Given the description of an element on the screen output the (x, y) to click on. 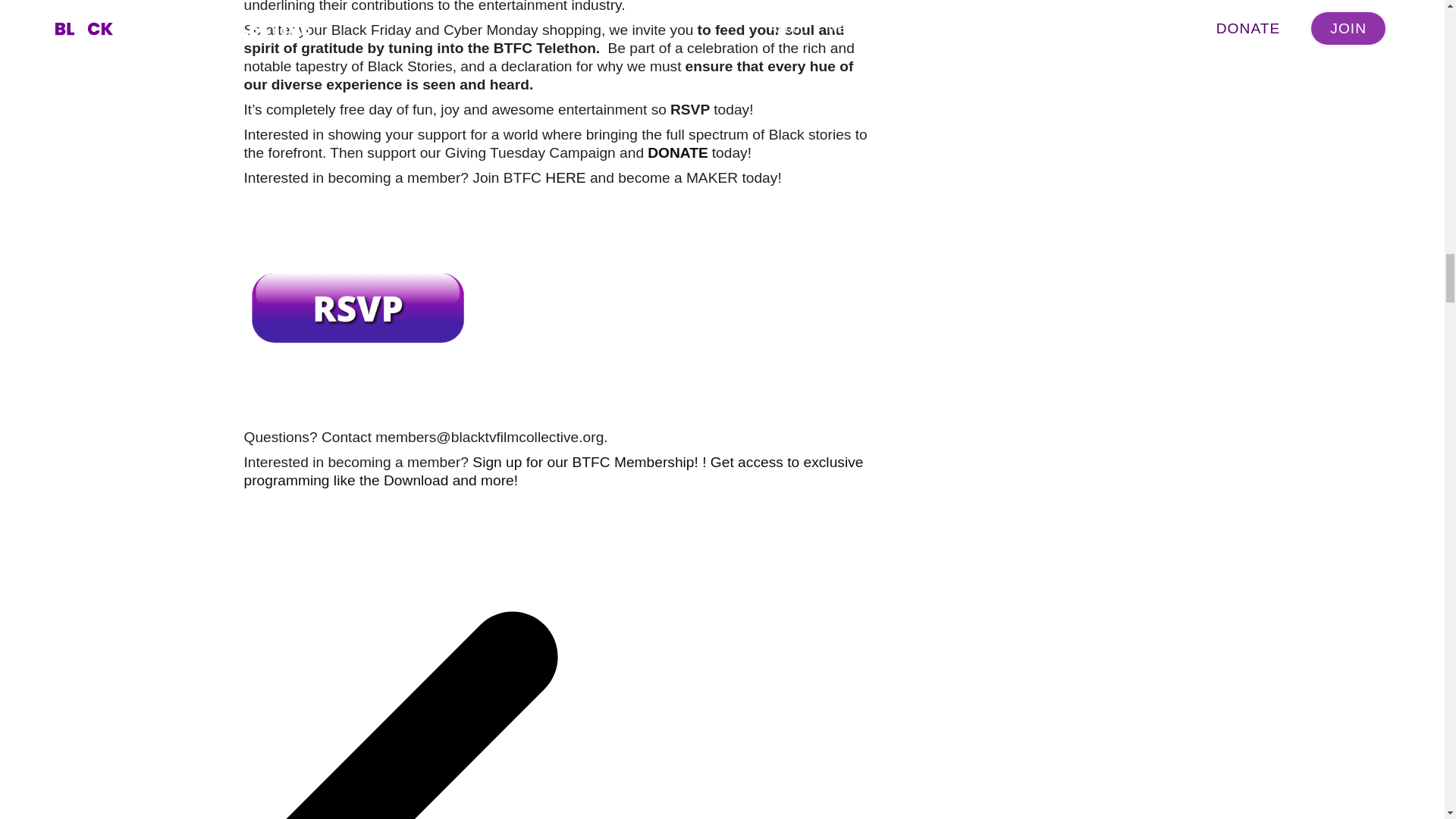
HERE (564, 177)
RSVP (689, 109)
DONATE (677, 152)
